Given the description of an element on the screen output the (x, y) to click on. 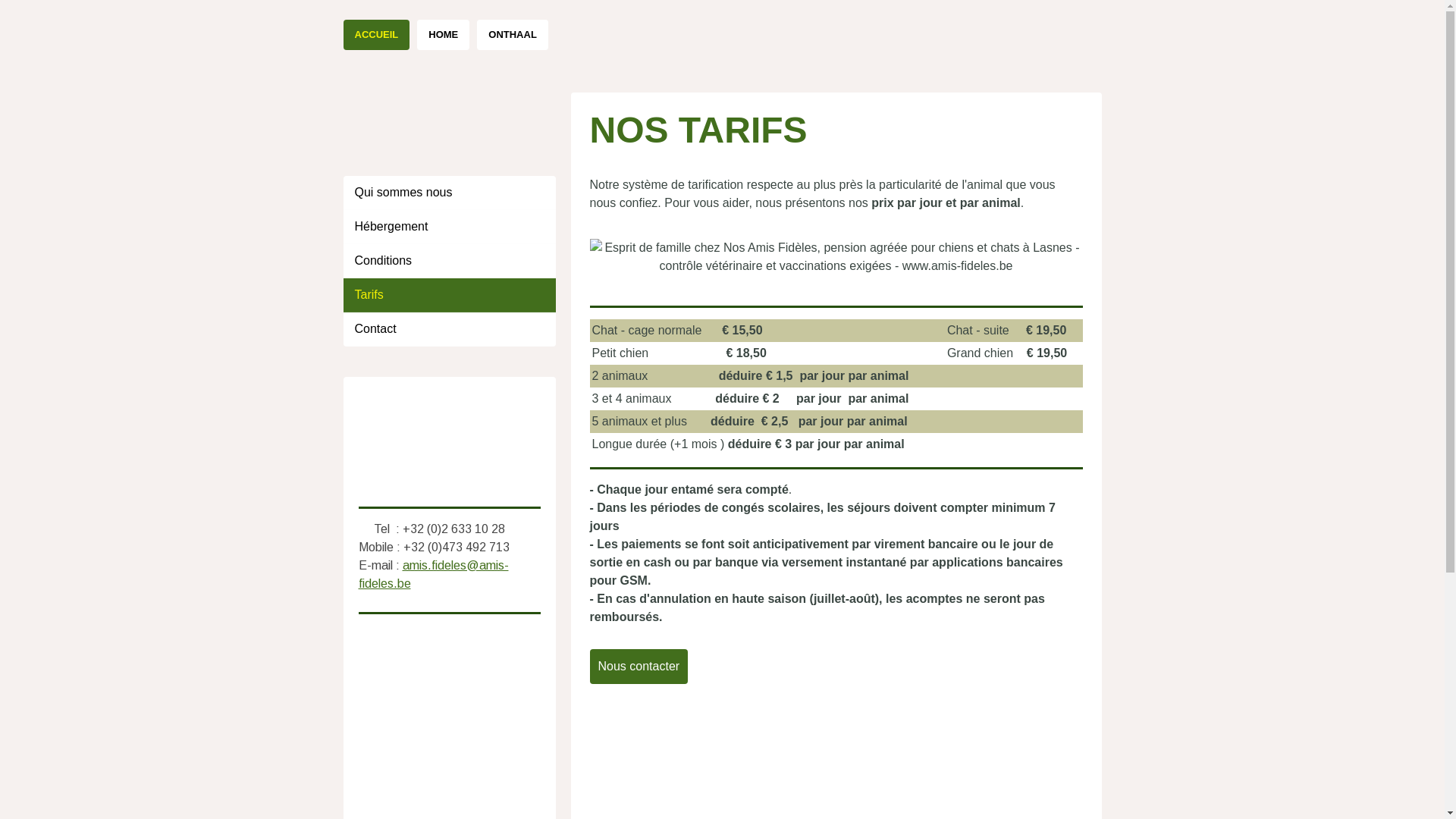
ONTHAAL Element type: text (512, 34)
ACCUEIL Element type: text (375, 34)
Contact Element type: text (448, 329)
amis.fideles@amis-fideles.be Element type: text (432, 573)
HOME Element type: text (443, 34)
Tarifs Element type: text (448, 294)
Qui sommes nous Element type: text (448, 192)
Nous contacter Element type: text (638, 666)
Conditions Element type: text (448, 261)
